Given the description of an element on the screen output the (x, y) to click on. 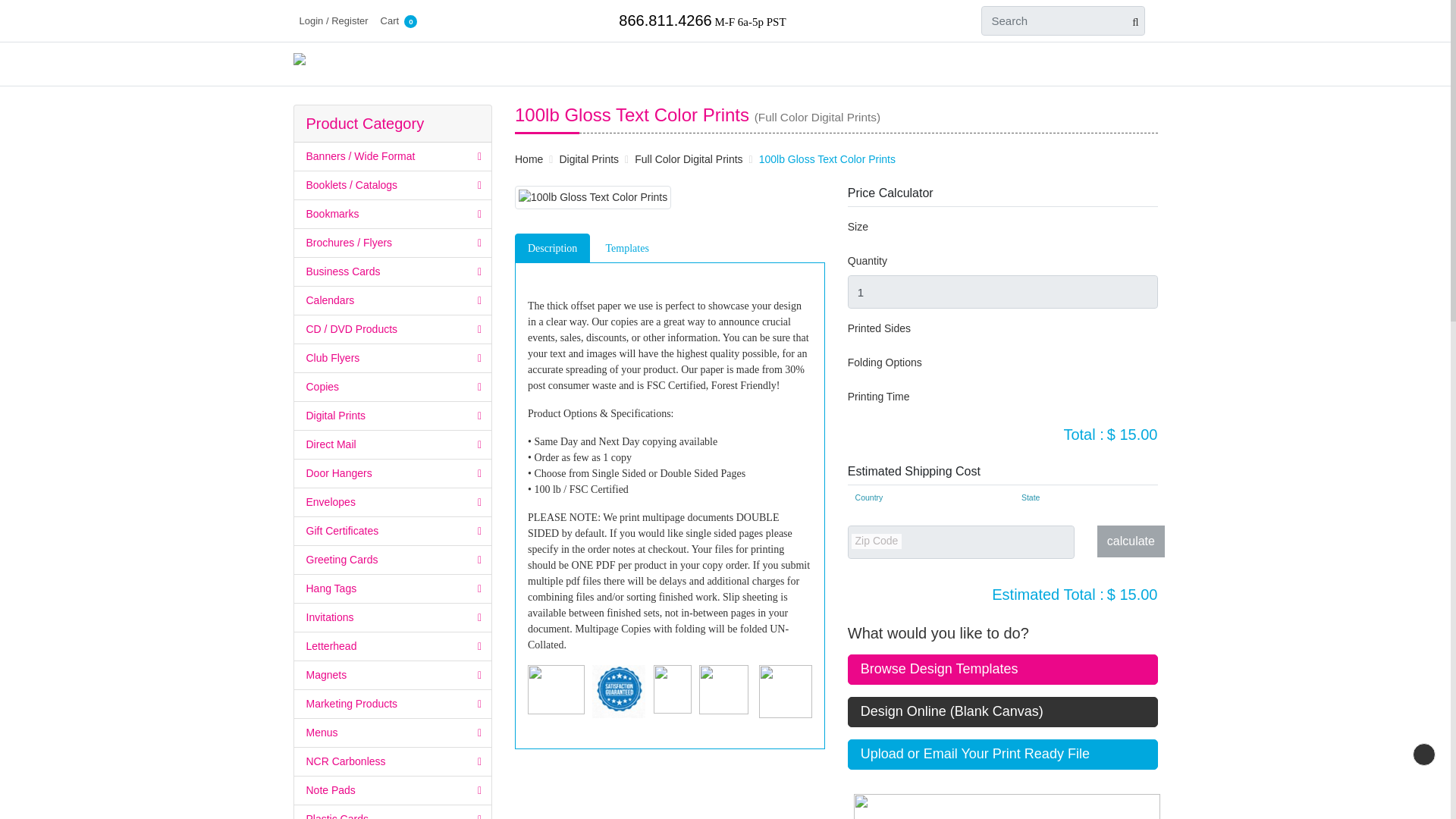
Cart  0 (398, 20)
866.811.4266 (664, 20)
FREE Samples (633, 63)
100lb Gloss Text Color Prints (593, 197)
1 (1002, 291)
All Products (727, 63)
